Given the description of an element on the screen output the (x, y) to click on. 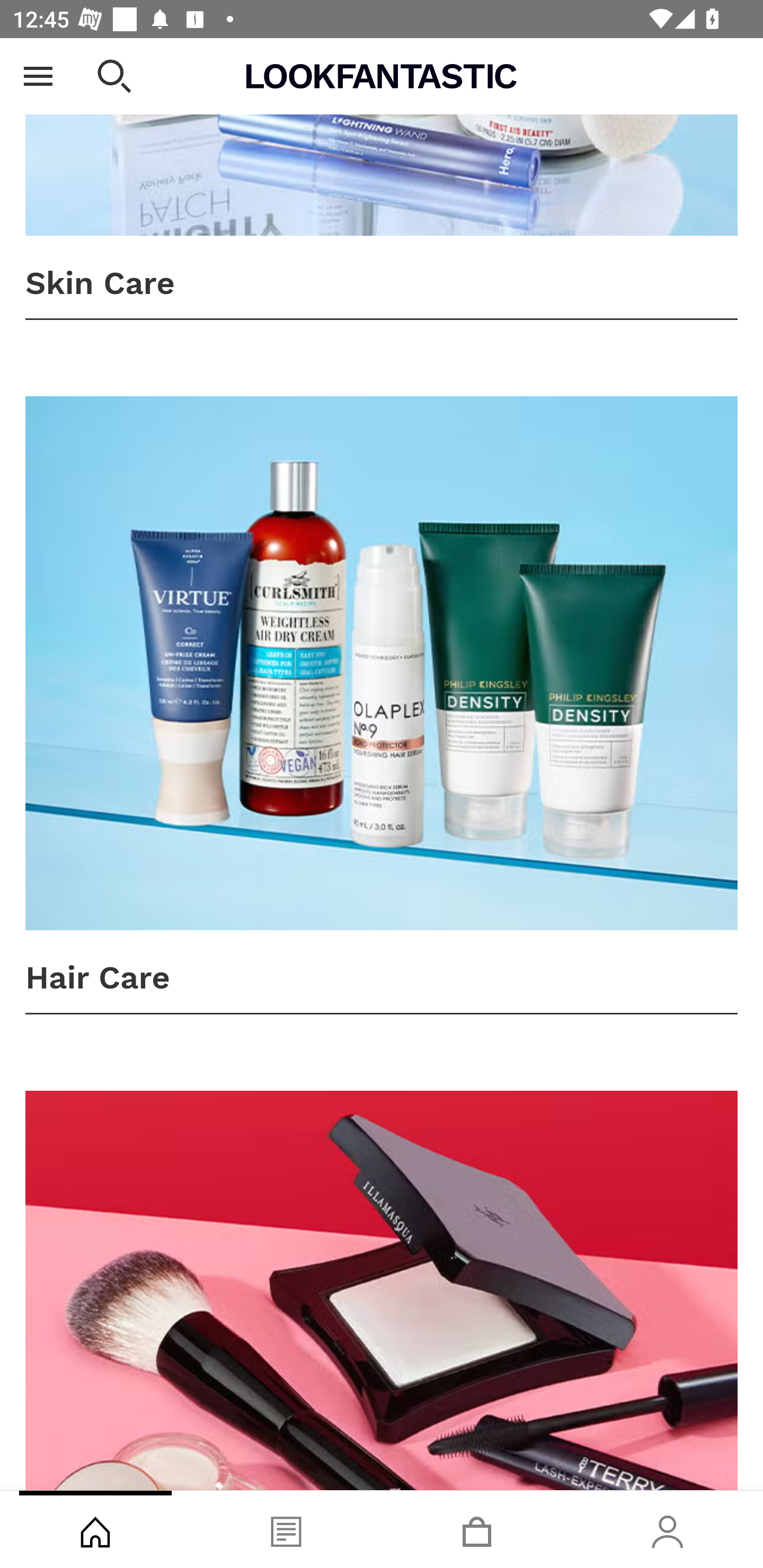
Skin Care (381, 179)
Hair Care (381, 705)
Make Up (381, 1290)
Shop, tab, 1 of 4 (95, 1529)
Blog, tab, 2 of 4 (285, 1529)
Basket, tab, 3 of 4 (476, 1529)
Account, tab, 4 of 4 (667, 1529)
